Given the description of an element on the screen output the (x, y) to click on. 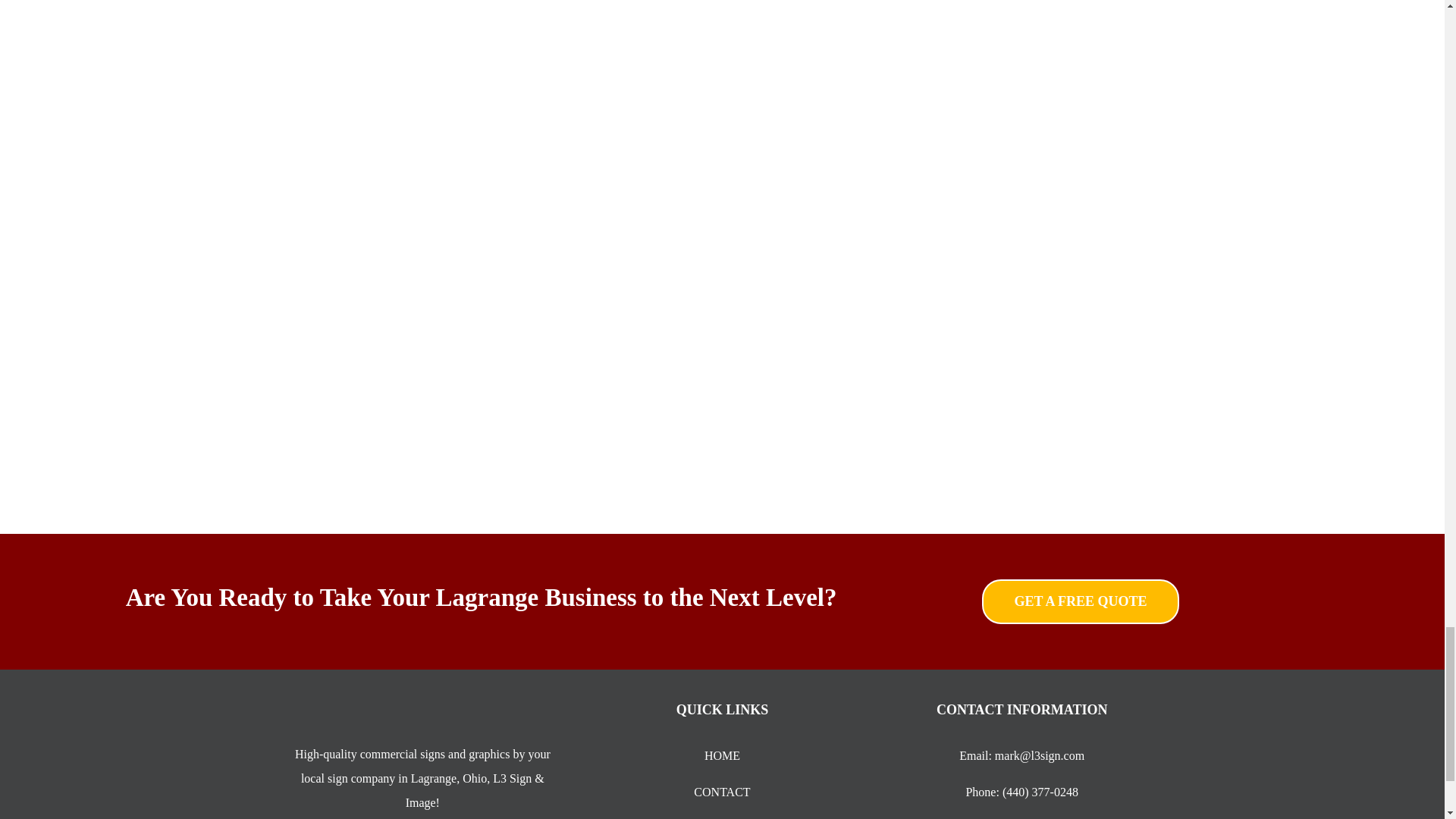
l3-mobile-logo (422, 715)
